Given the description of an element on the screen output the (x, y) to click on. 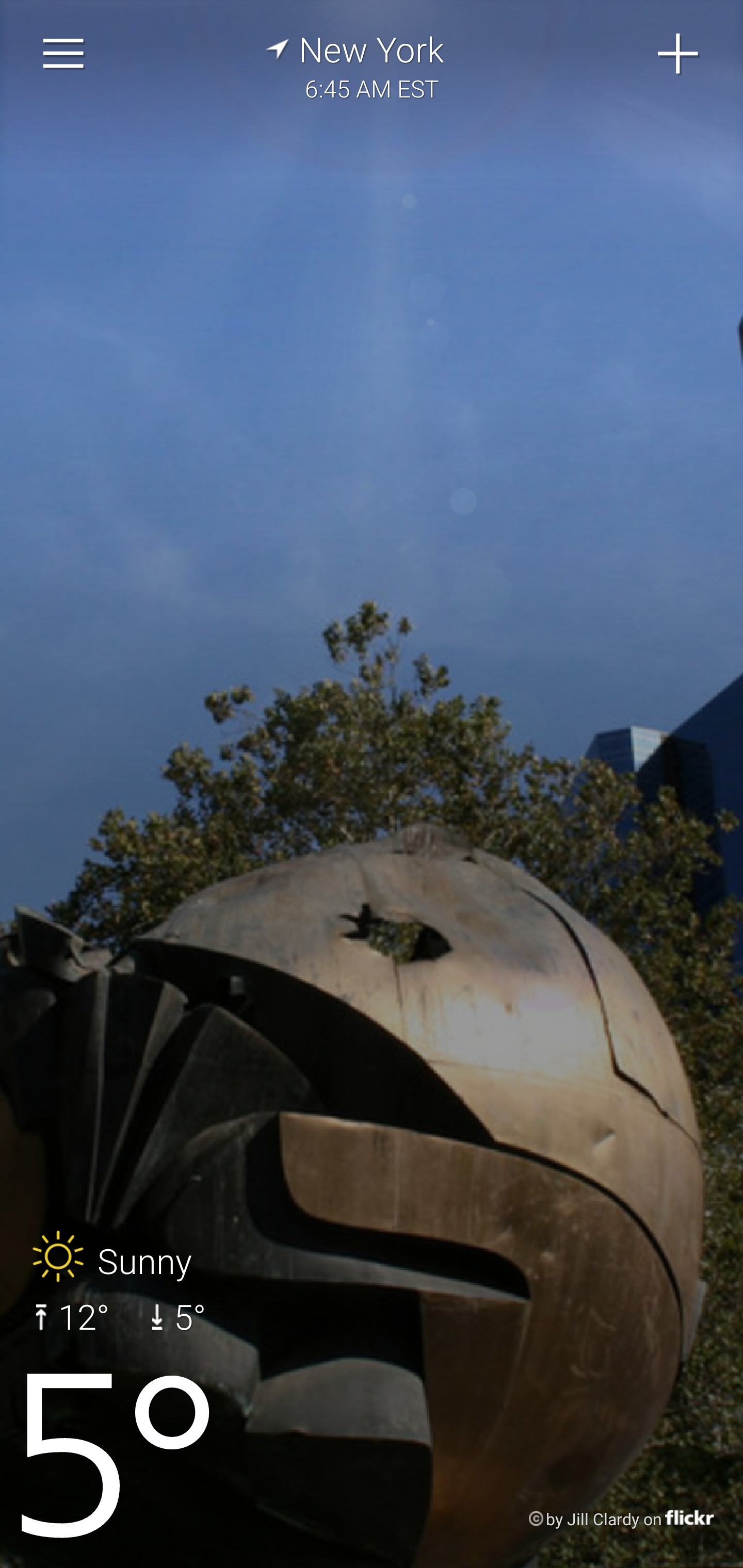
Sidebar (64, 54)
Add City (678, 53)
